Given the description of an element on the screen output the (x, y) to click on. 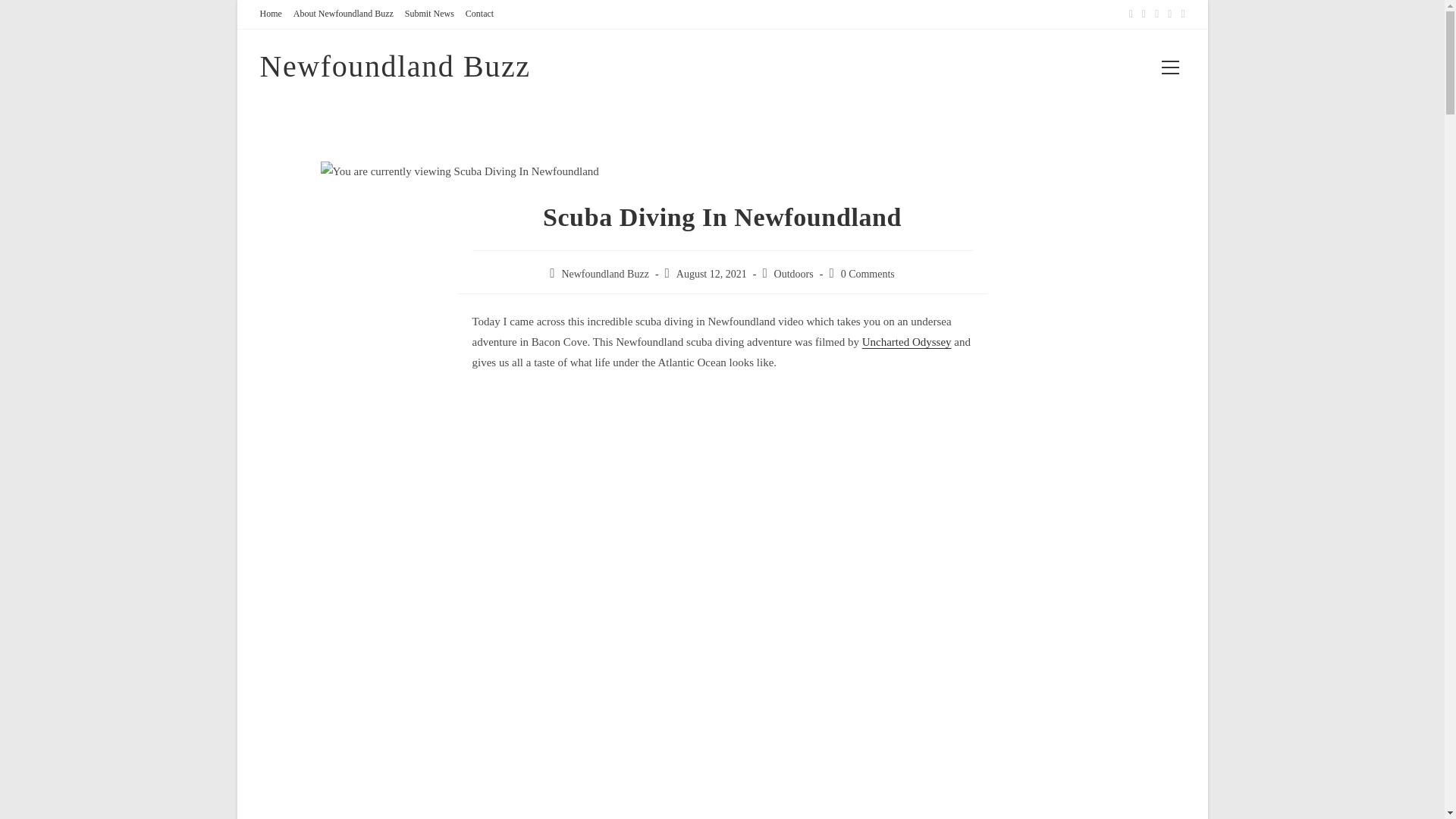
Newfoundland Buzz (394, 66)
About Newfoundland Buzz (343, 13)
Newfoundland Buzz (603, 274)
Submit News (429, 13)
Posts by Newfoundland Buzz (603, 274)
Uncharted Odyssey (906, 341)
View website Menu (1170, 66)
Contact (479, 13)
Outdoors (793, 274)
Home (270, 13)
